Given the description of an element on the screen output the (x, y) to click on. 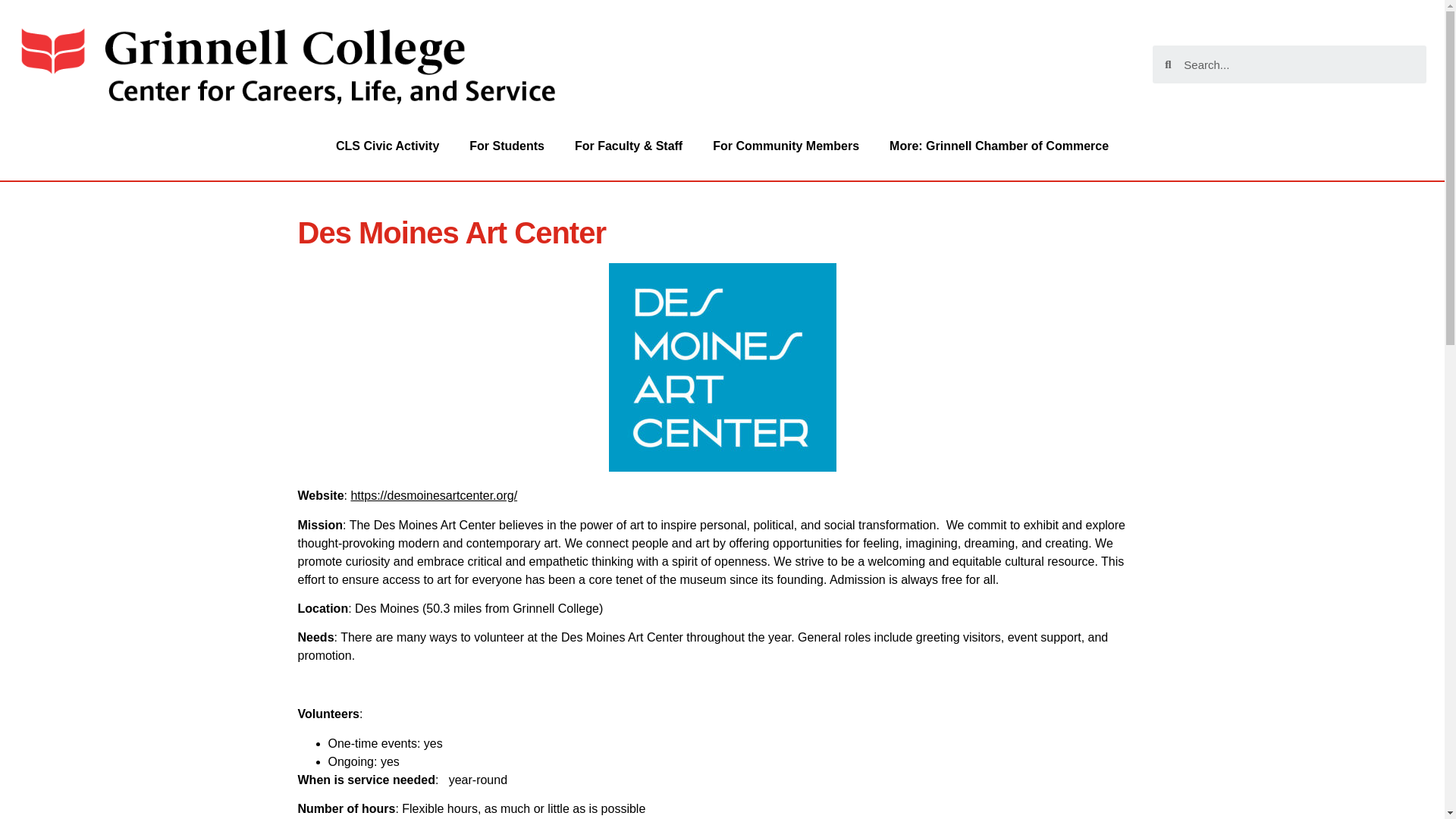
For Community Members (786, 145)
Search (1299, 64)
For Students (506, 145)
CLS Civic Activity (387, 145)
More: Grinnell Chamber of Commerce (999, 145)
